Given the description of an element on the screen output the (x, y) to click on. 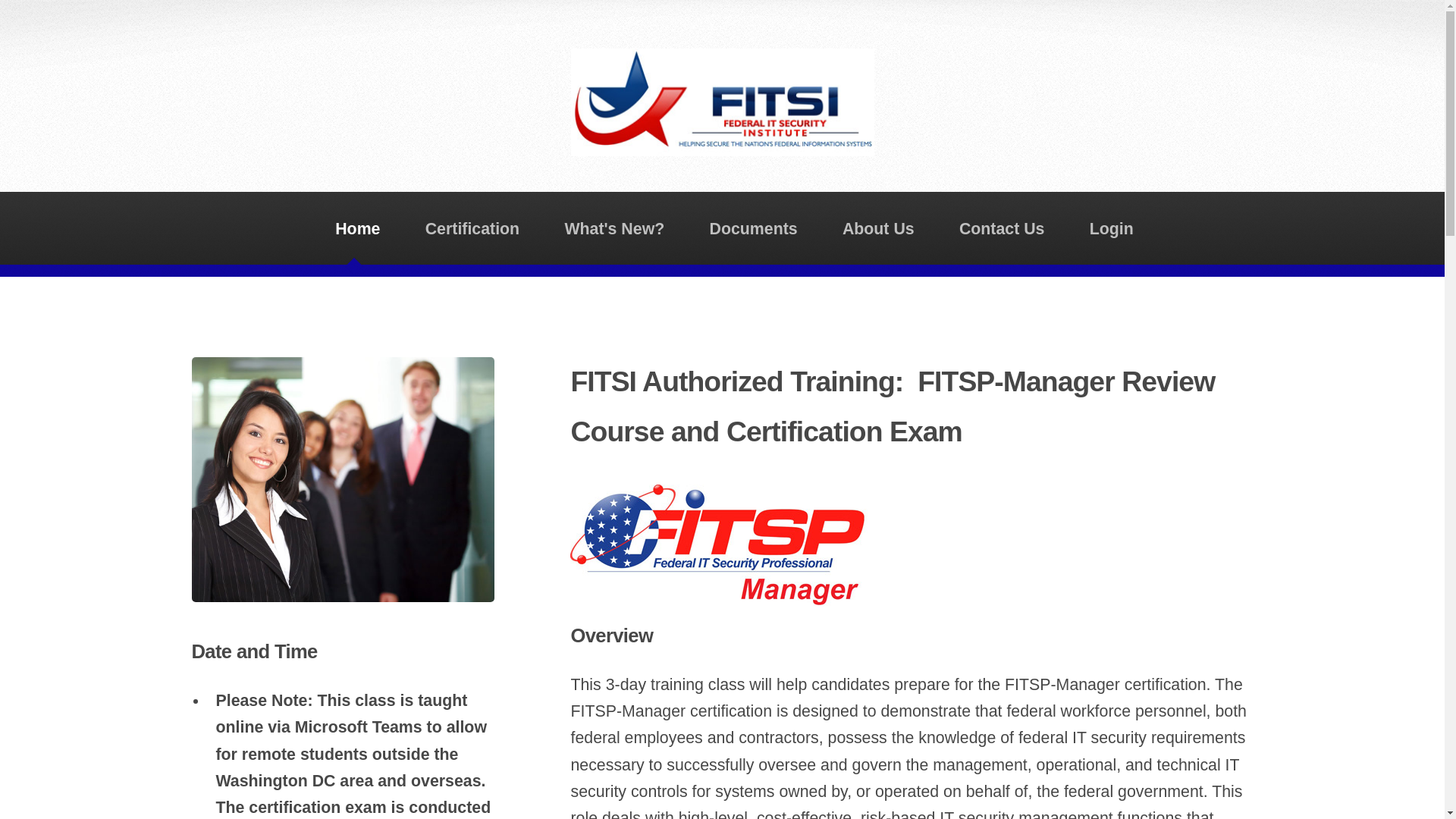
Contact Us (1001, 227)
What's New? (614, 227)
Certification (471, 227)
Documents (753, 227)
About Us (877, 227)
